Given the description of an element on the screen output the (x, y) to click on. 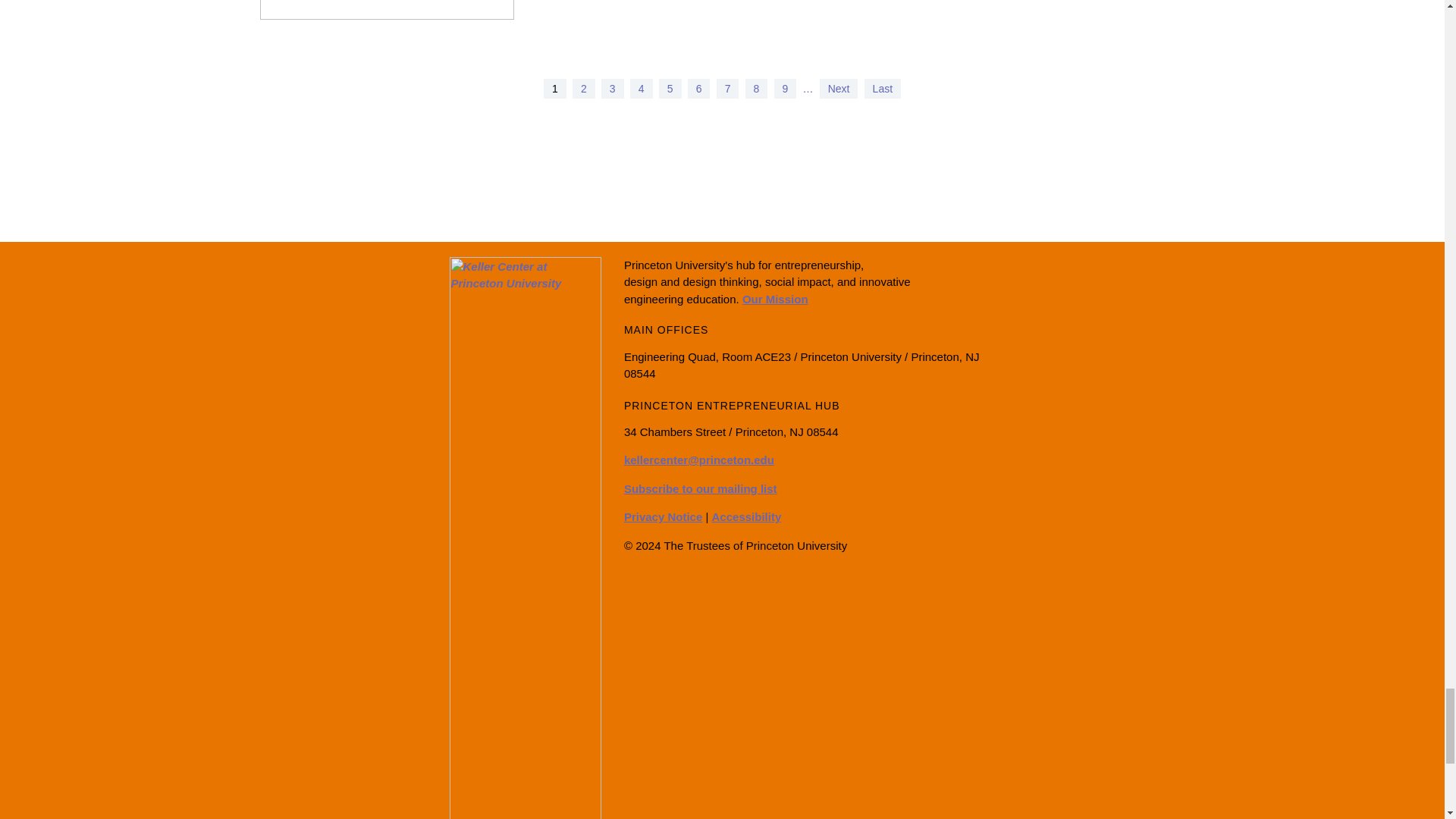
Go to last page (882, 88)
Go to page 2 (583, 88)
Home (523, 665)
Go to page 5 (670, 88)
Go to page 7 (727, 88)
Go to page 3 (612, 88)
Current page (554, 88)
Go to page 6 (698, 88)
Go to page 8 (756, 88)
Go to page 4 (641, 88)
